Given the description of an element on the screen output the (x, y) to click on. 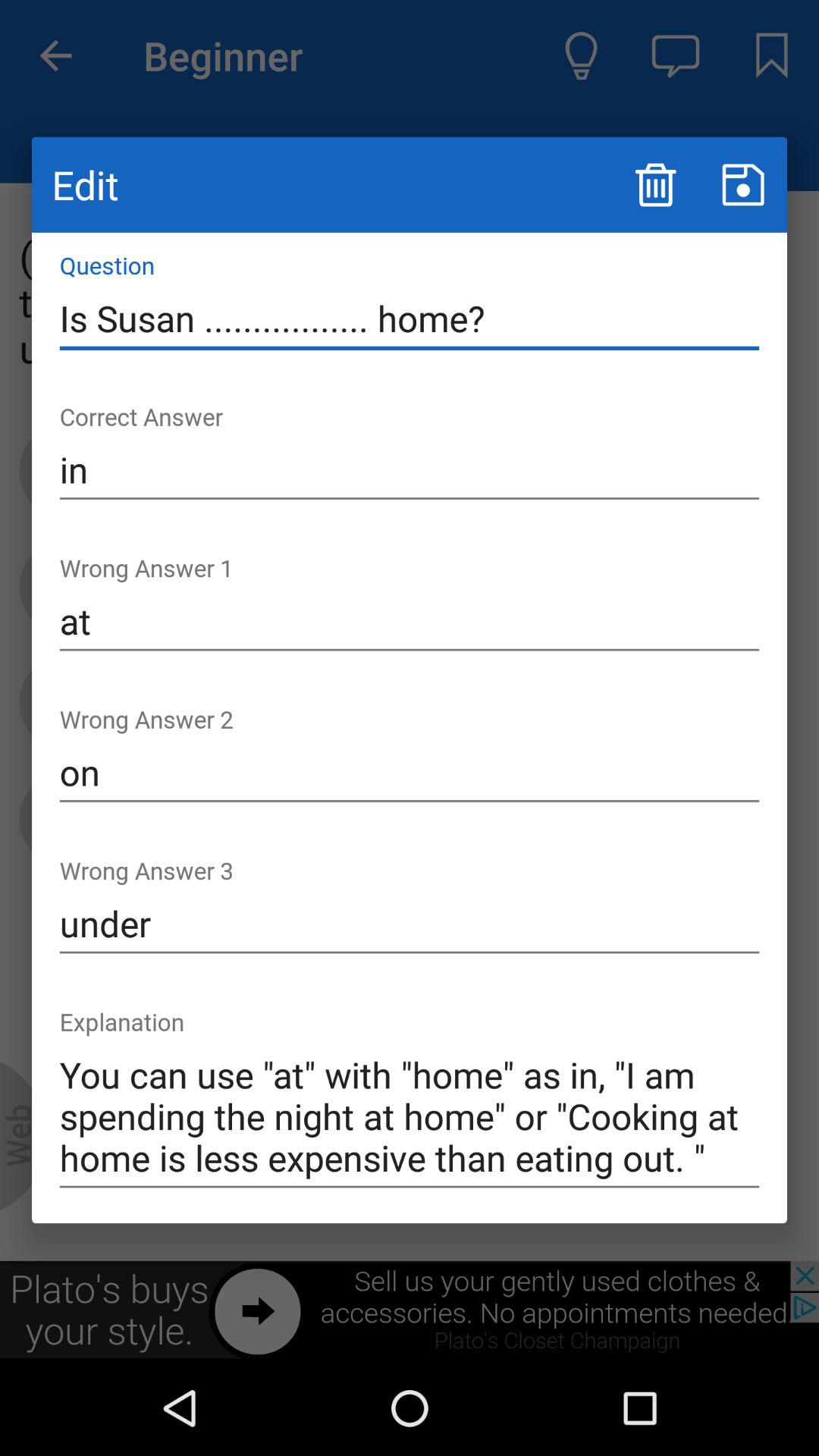
select the item above the in (409, 319)
